Given the description of an element on the screen output the (x, y) to click on. 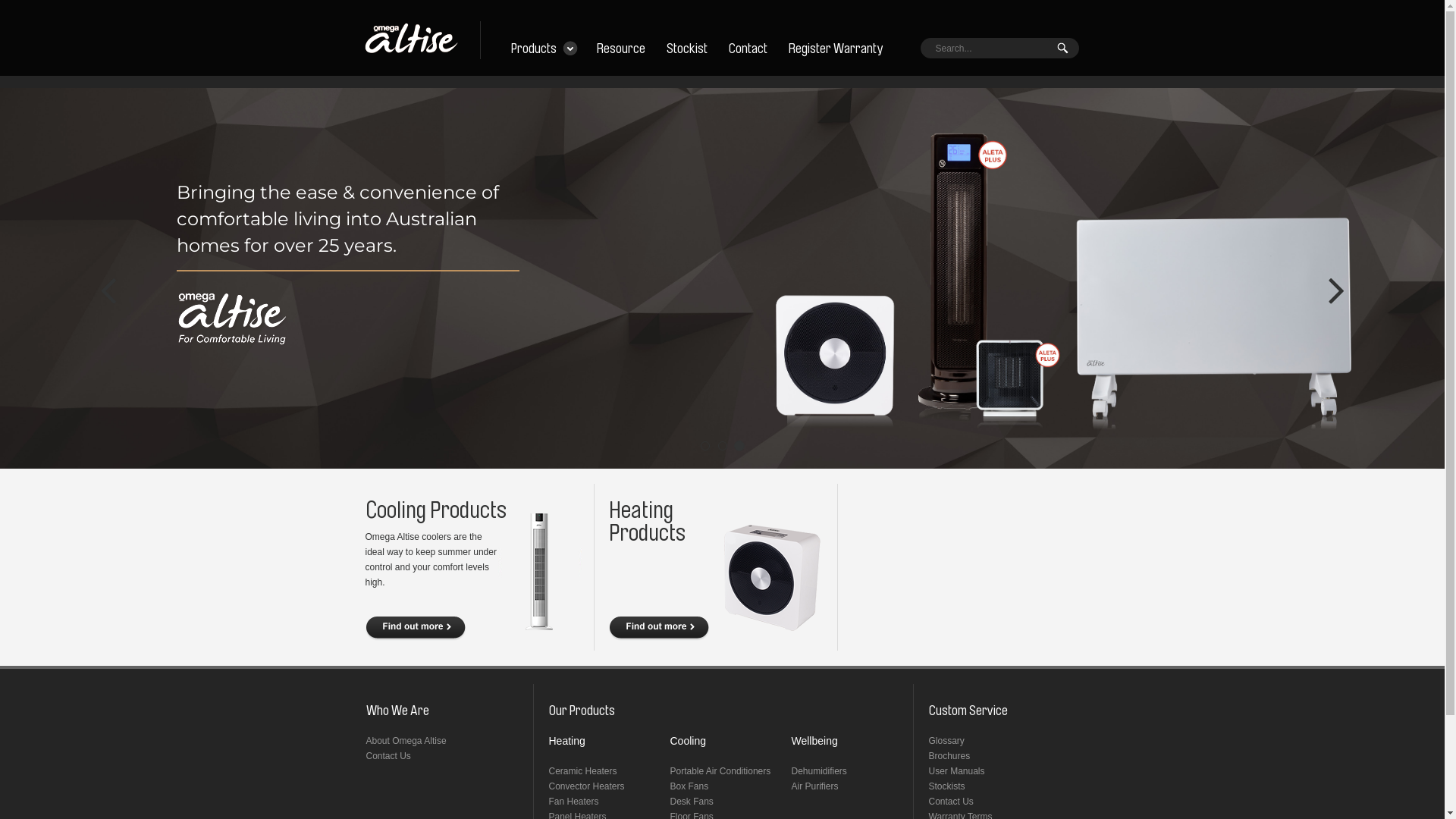
Ceramic Heaters Element type: text (583, 770)
Air Purifiers Element type: text (814, 786)
Desk Fans Element type: text (691, 801)
Stockist Element type: text (685, 48)
Register Warranty Element type: text (835, 48)
Fan Heaters Element type: text (574, 801)
Portable Air Conditioners Element type: text (720, 770)
Contact Us Element type: text (950, 801)
Glossary Element type: text (945, 740)
Box Fans Element type: text (689, 786)
User Manuals Element type: text (956, 770)
Stockists Element type: text (946, 786)
Dehumidifiers Element type: text (819, 770)
Products Element type: text (533, 48)
Convector Heaters Element type: text (586, 786)
Contact Element type: text (747, 48)
Contact Us Element type: text (387, 755)
About Omega Altise Element type: text (405, 740)
Brochures Element type: text (948, 755)
Resource Element type: text (620, 48)
